Given the description of an element on the screen output the (x, y) to click on. 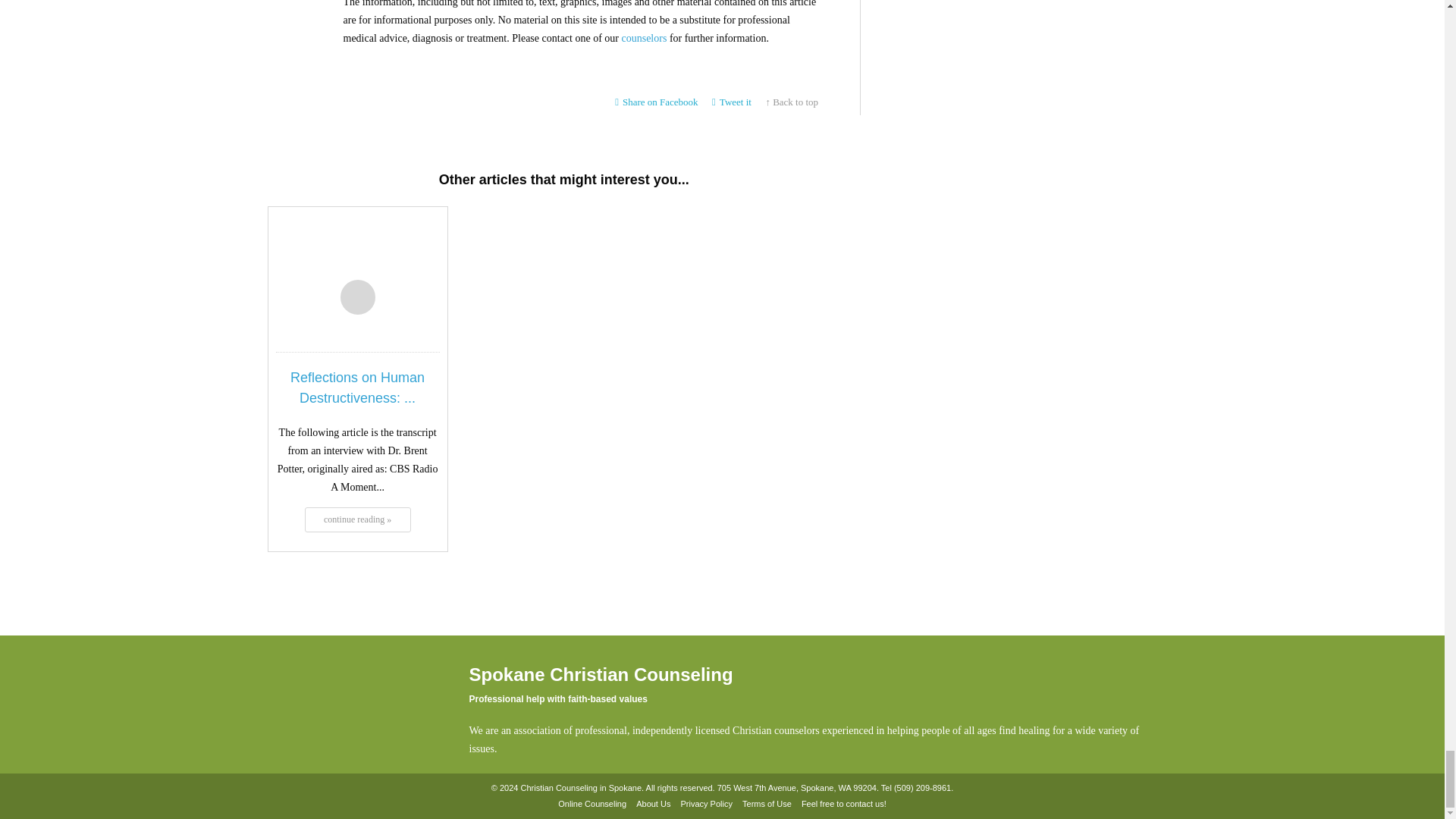
Spokane Christian Counseling (342, 707)
Go back to top (791, 102)
Reflections on Human Destructiveness: An Interview (356, 253)
Reflections on Human Destructiveness: An Interview (357, 518)
Tweet it (731, 102)
Contact our Spokane office  (921, 787)
Feel free to contact us! (843, 804)
Reflections on Human Destructiveness: An Interview (357, 388)
Spokane Christian Counseling (342, 704)
Share on Facebook (656, 102)
